Given the description of an element on the screen output the (x, y) to click on. 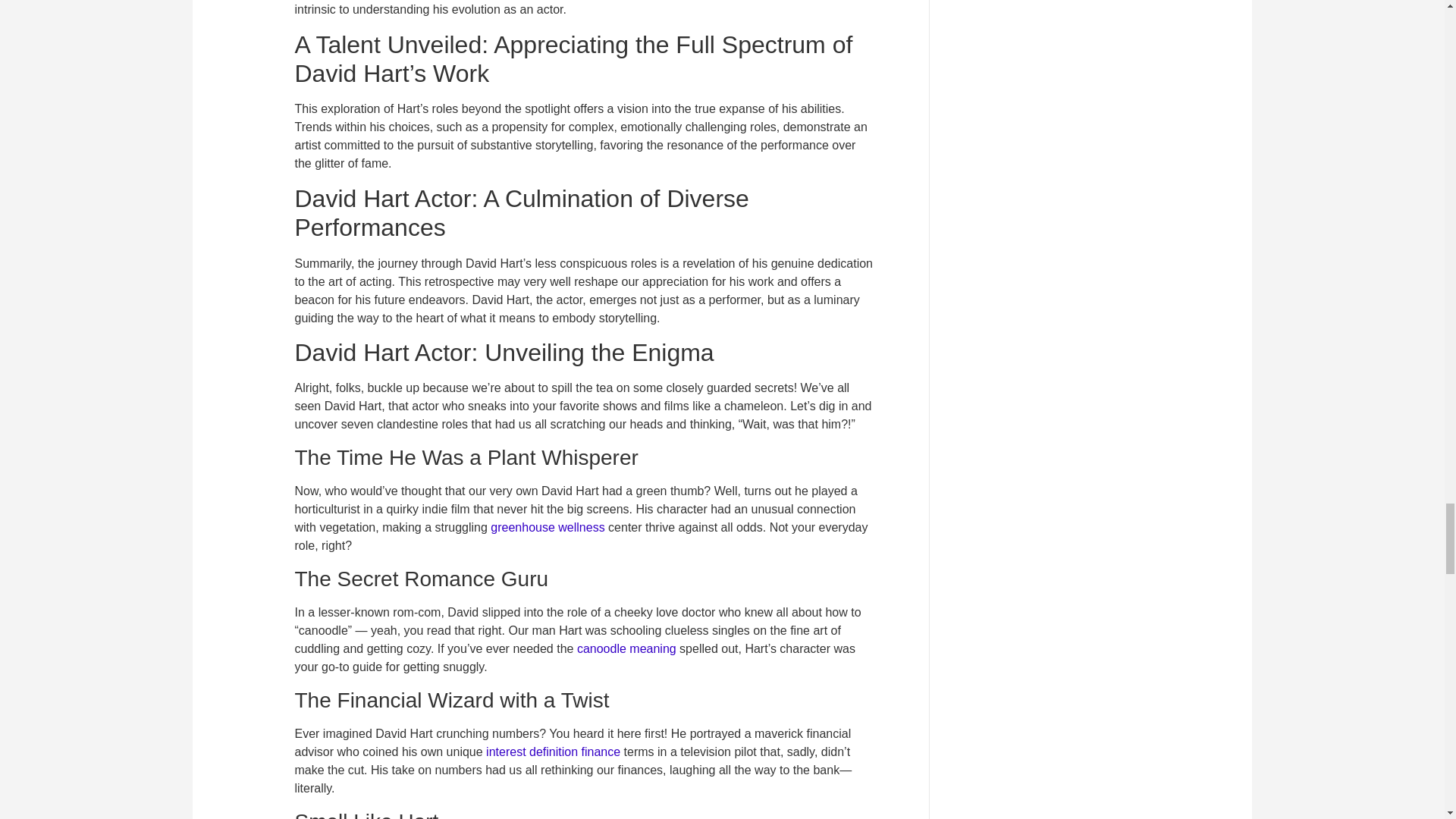
greenhouse wellness (547, 526)
interest definition finance (553, 751)
canoodle meaning (626, 648)
